Given the description of an element on the screen output the (x, y) to click on. 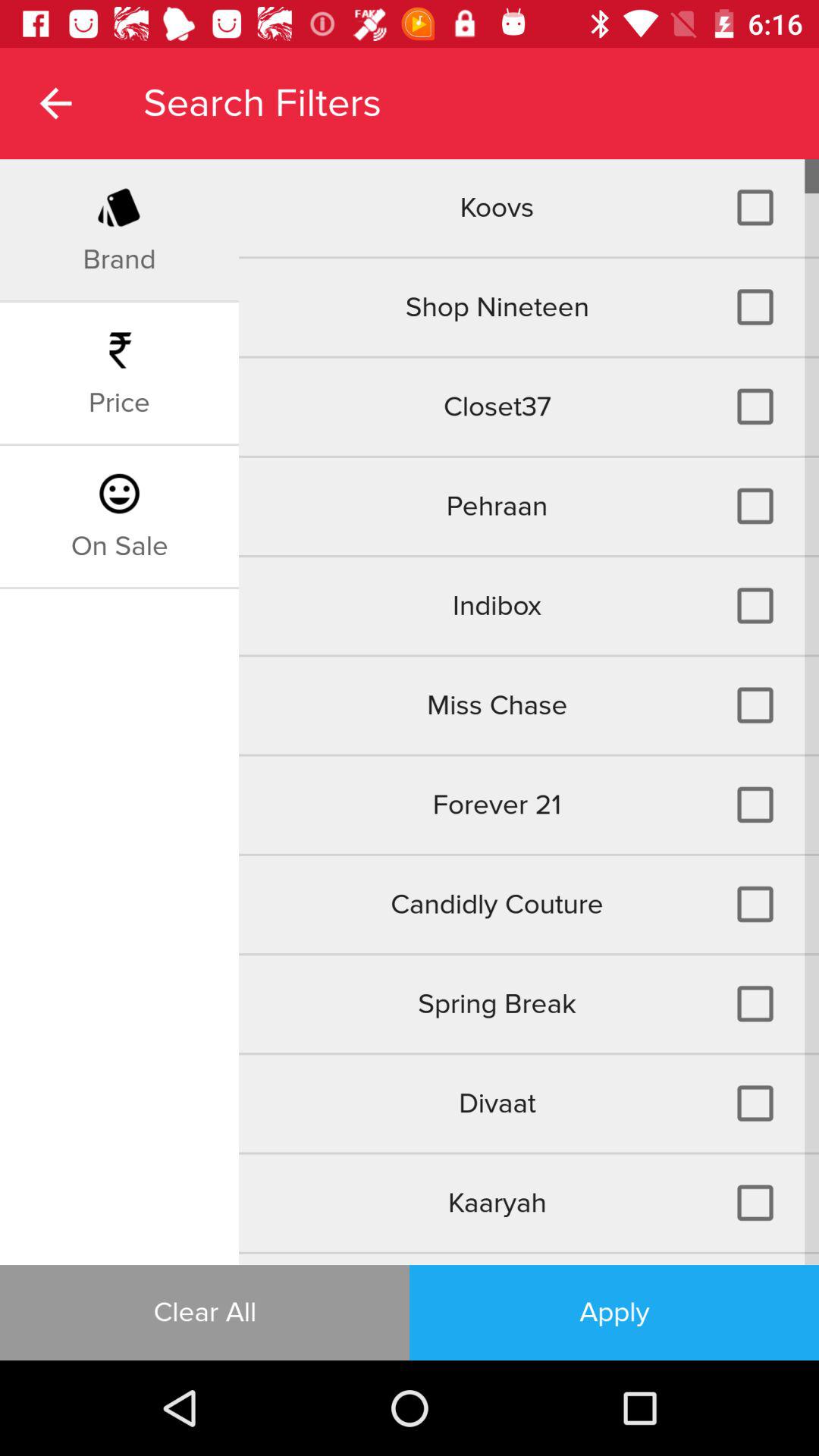
turn off the icon above the indibox icon (528, 506)
